Given the description of an element on the screen output the (x, y) to click on. 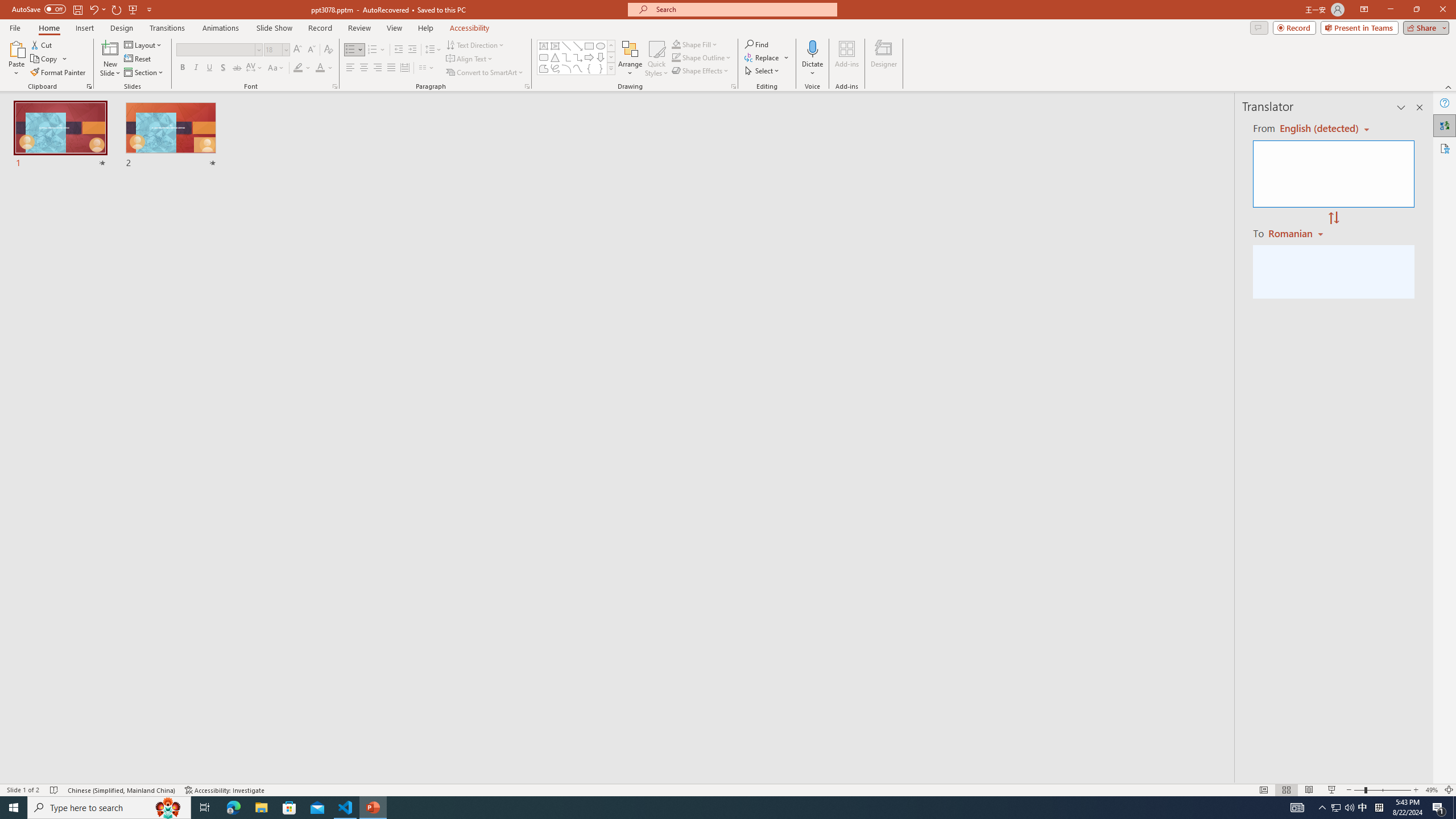
Czech (detected) (1319, 128)
